Given the description of an element on the screen output the (x, y) to click on. 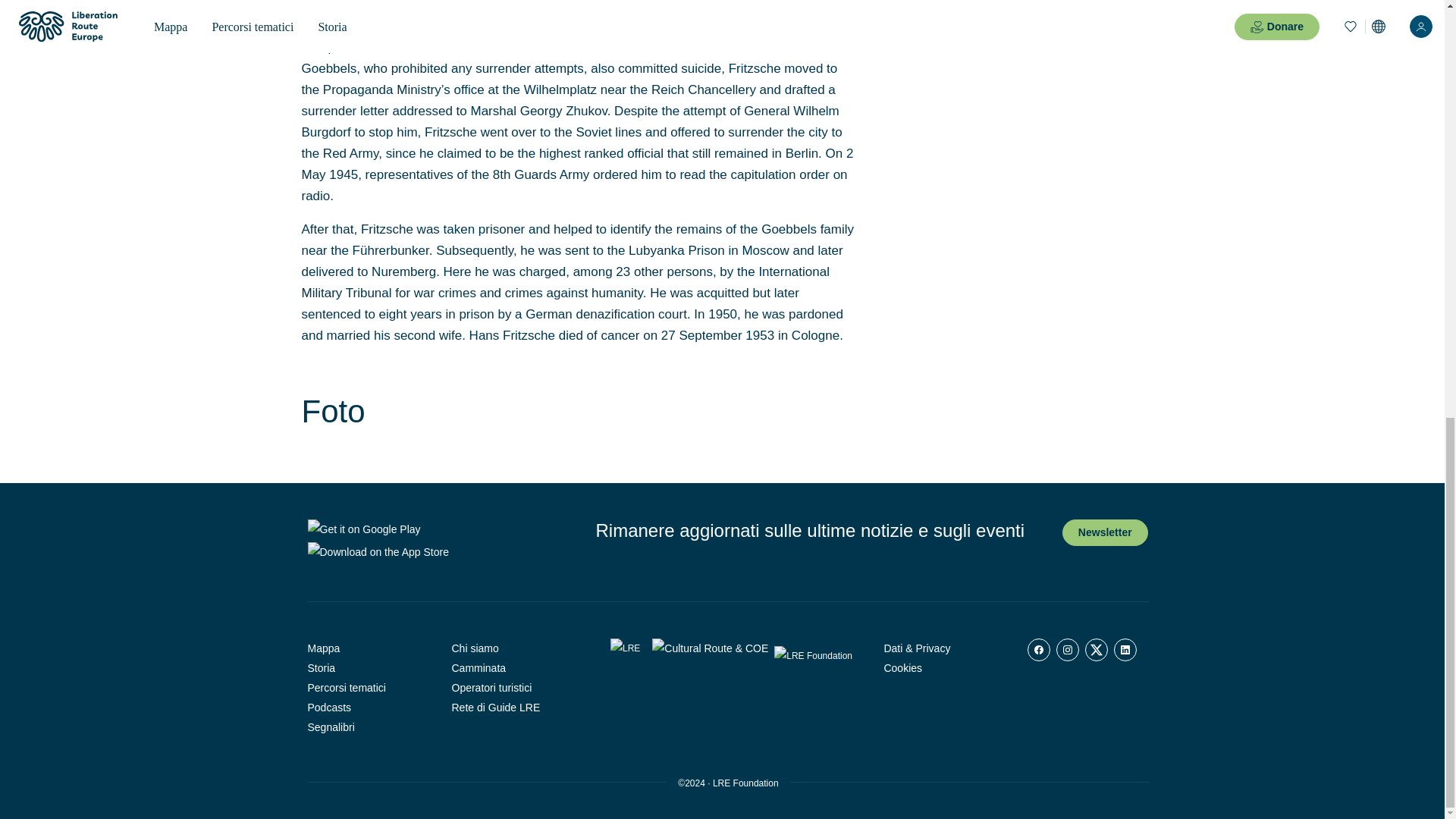
Cookies (943, 668)
Mappa (368, 648)
Chi siamo (512, 648)
Rete di Guide LRE (512, 707)
Camminata (512, 668)
Newsletter (1105, 532)
LRE Foundation (745, 783)
Segnalibri (368, 727)
Percorsi tematici (368, 687)
Podcasts (368, 707)
Operatori turistici (512, 687)
Storia (368, 668)
